Given the description of an element on the screen output the (x, y) to click on. 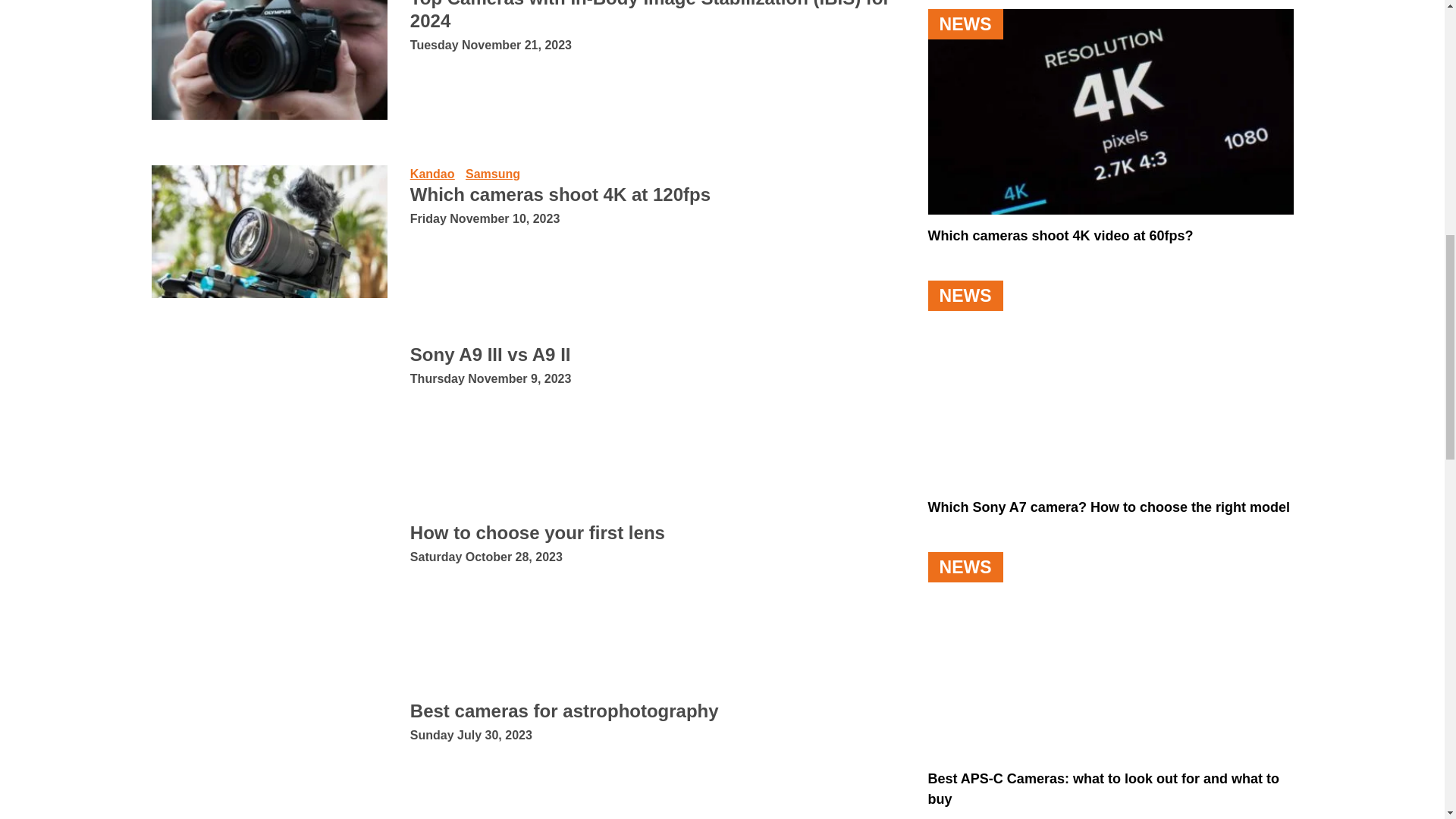
How to choose your first lens (537, 532)
How to choose your first lens (269, 587)
Best cameras for astrophotography (269, 759)
Sony A9 III vs A9 II (490, 353)
Sony A9 III vs A9 II (490, 353)
Best cameras for astrophotography (564, 711)
Sony A9 III vs A9 II (269, 409)
Which cameras shoot 4K at 120fps (560, 194)
Samsung (492, 173)
Which cameras shoot 4K at 120fps (269, 231)
